Given the description of an element on the screen output the (x, y) to click on. 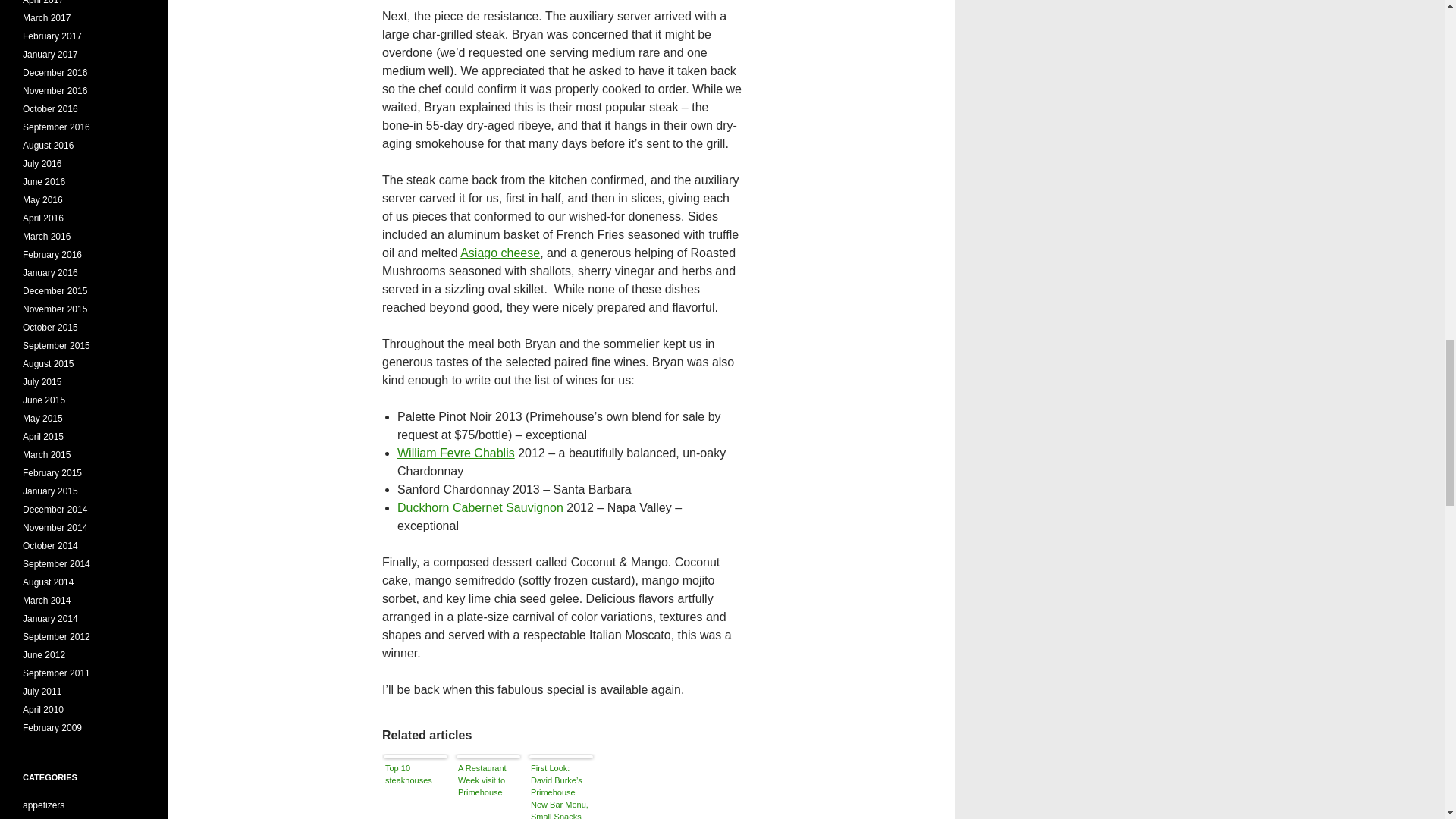
A Restaurant Week visit to Primehouse (488, 788)
William Fevre Chablis (456, 452)
Duckhorn Cabernet Sauvignon (480, 507)
Top 10 steakhouses (415, 788)
Asiago cheese (500, 252)
Asiago cheese (500, 252)
